Given the description of an element on the screen output the (x, y) to click on. 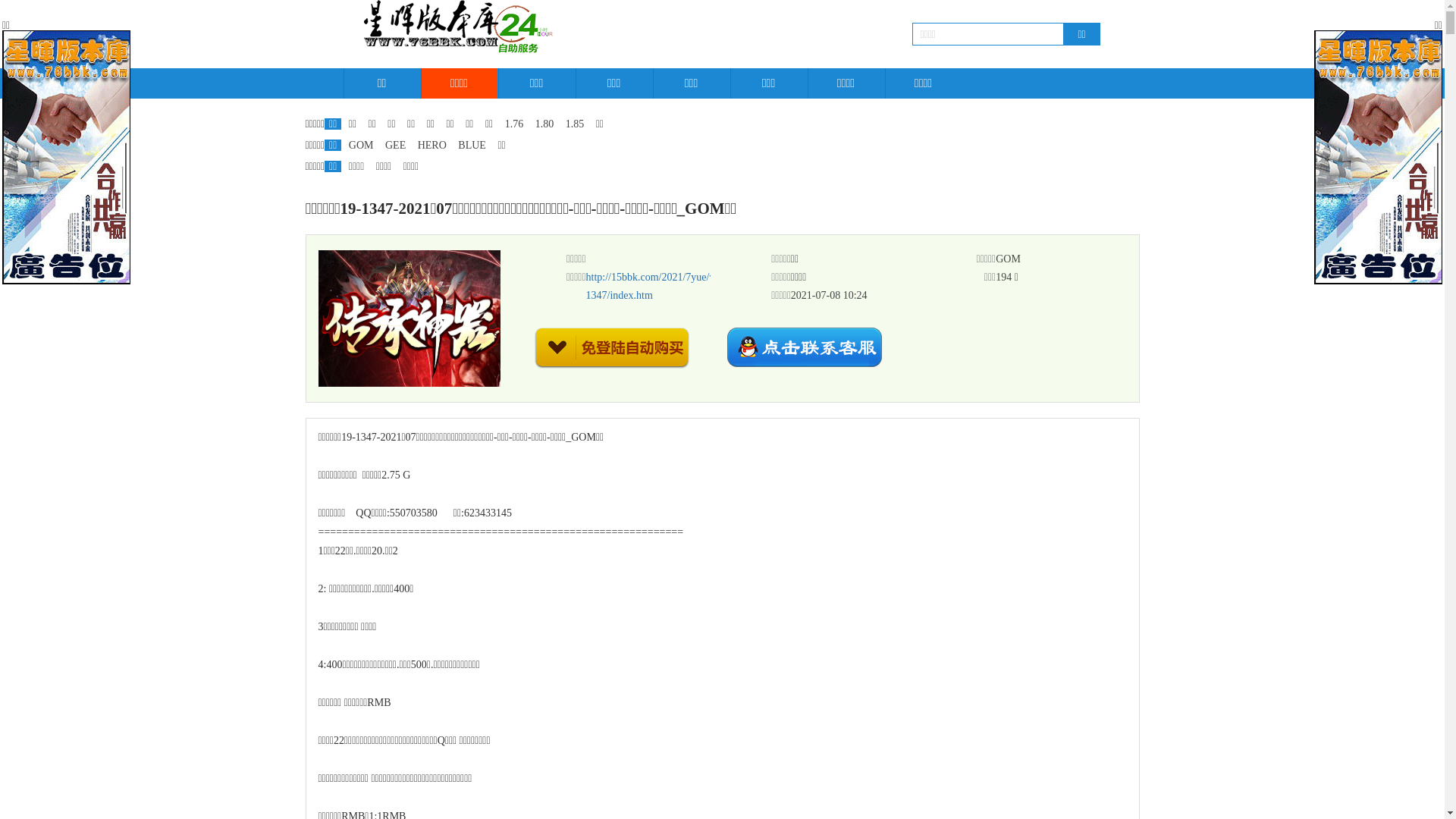
1.76 Element type: text (514, 123)
http://15bbk.com/2021/7yue/wz/19-1347/index.htm Element type: text (661, 286)
BLUE Element type: text (471, 144)
GEE Element type: text (395, 144)
GOM Element type: text (361, 144)
1.85 Element type: text (575, 123)
1.80 Element type: text (544, 123)
HERO Element type: text (432, 144)
